Given the description of an element on the screen output the (x, y) to click on. 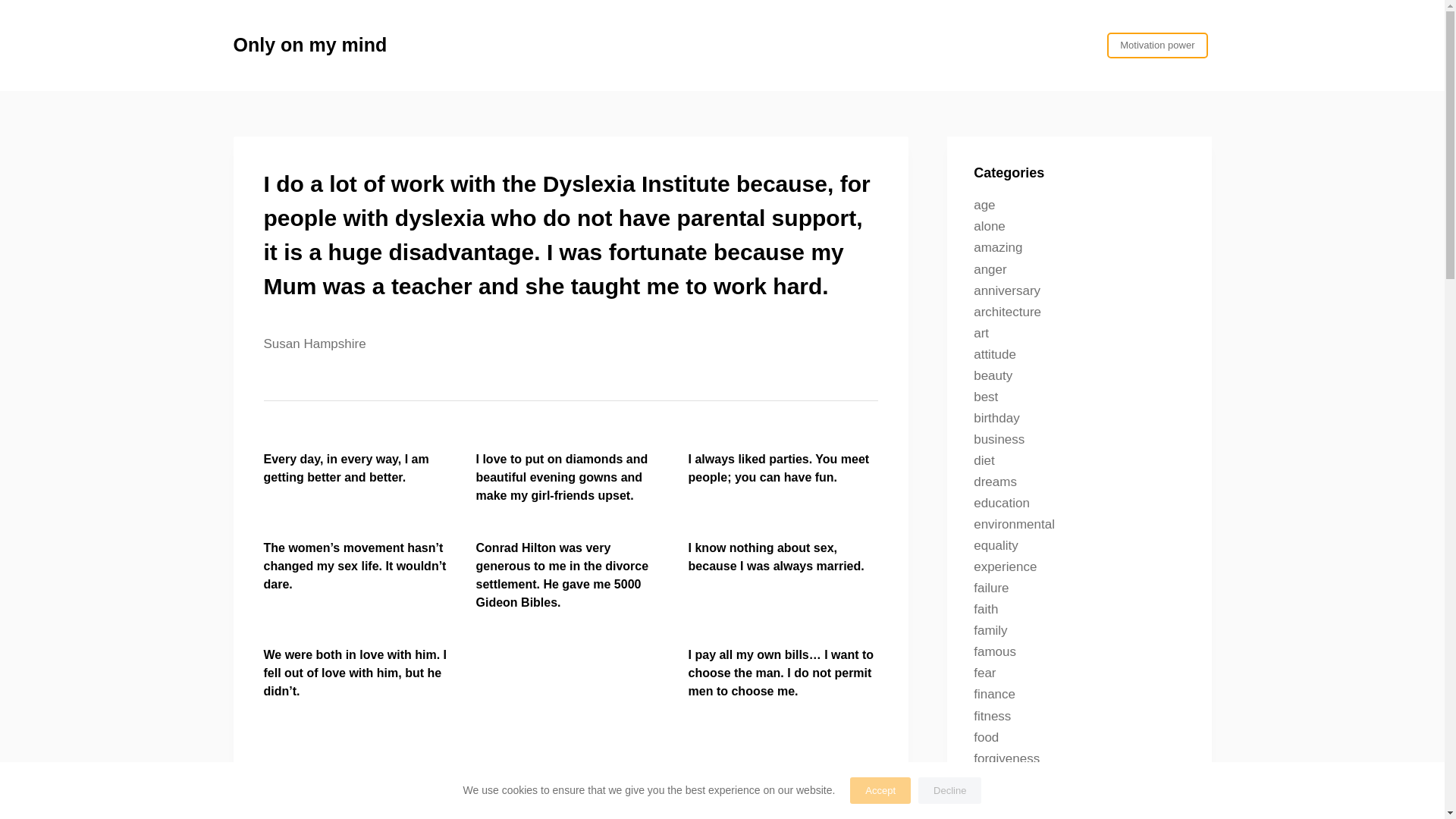
Advertisement (570, 726)
Skip to content (15, 7)
